Given the description of an element on the screen output the (x, y) to click on. 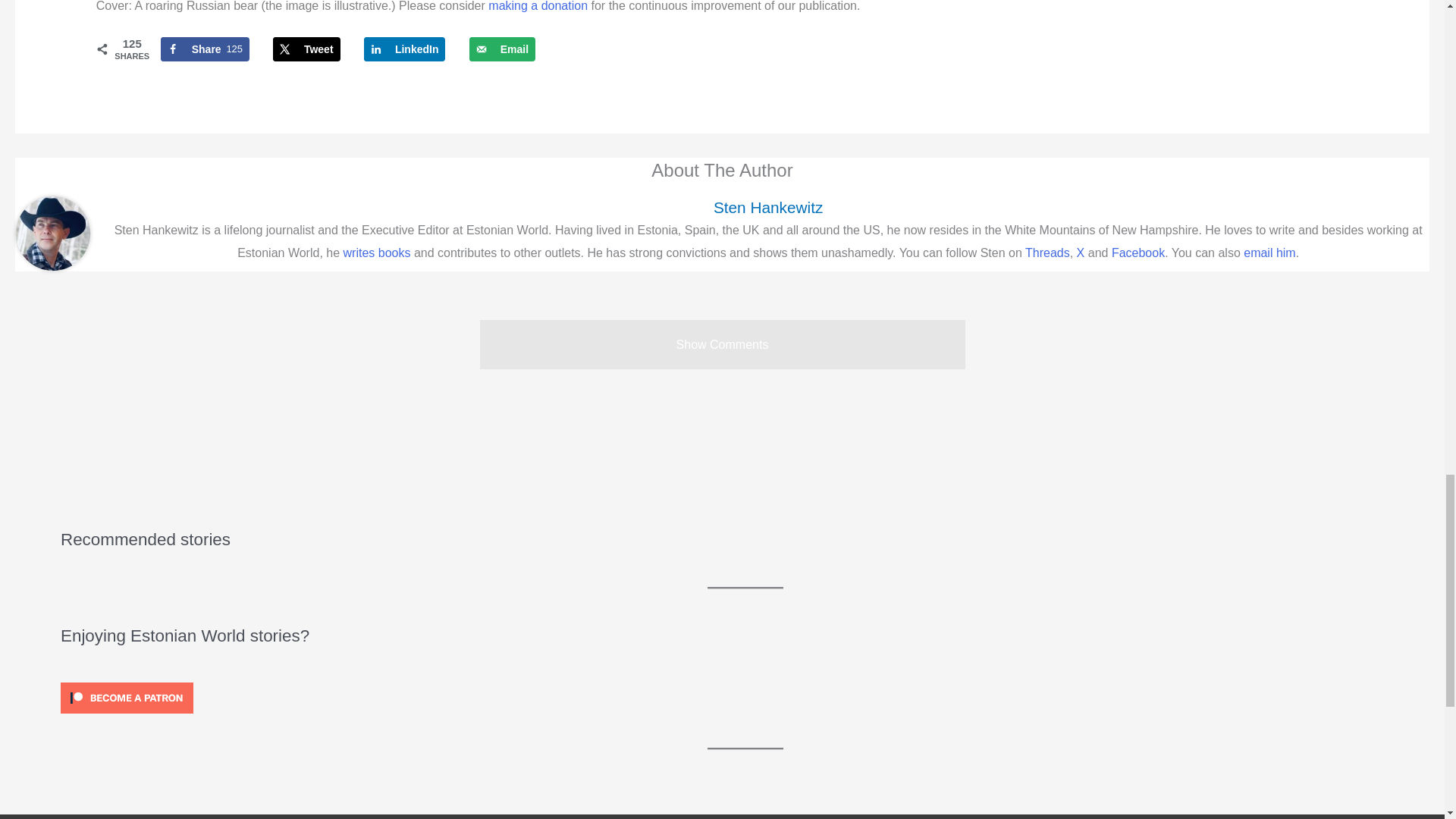
Share on Facebook (204, 48)
Send over email (501, 48)
Facebook (1138, 252)
writes books (376, 252)
Share on X (306, 48)
making a donation (537, 6)
LinkedIn (404, 48)
Sten Hankewitz (767, 207)
Share on LinkedIn (404, 48)
X (204, 48)
Email (1080, 252)
Tweet (501, 48)
Threads (306, 48)
